Given the description of an element on the screen output the (x, y) to click on. 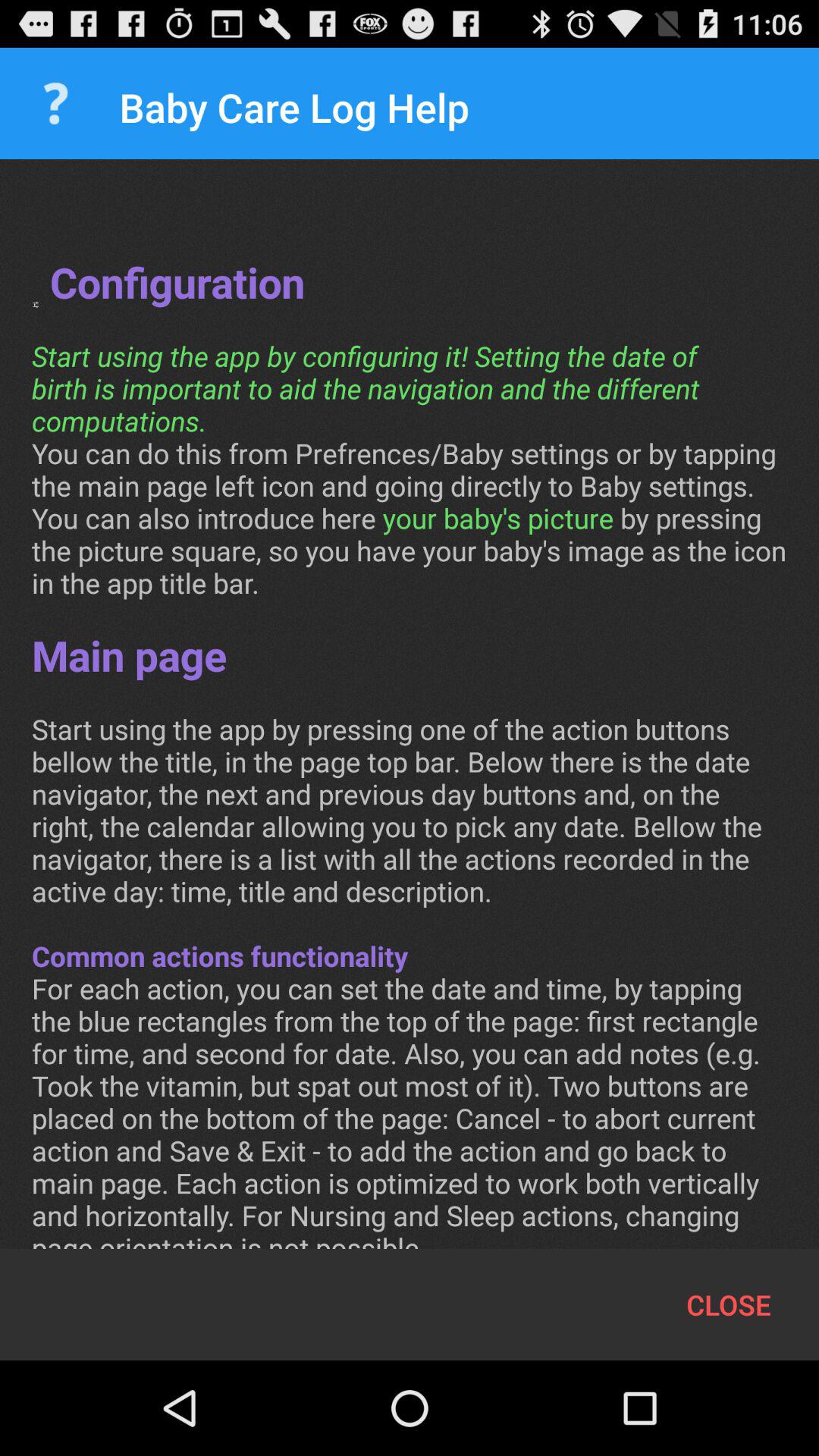
launch conf configuration start icon (409, 719)
